Given the description of an element on the screen output the (x, y) to click on. 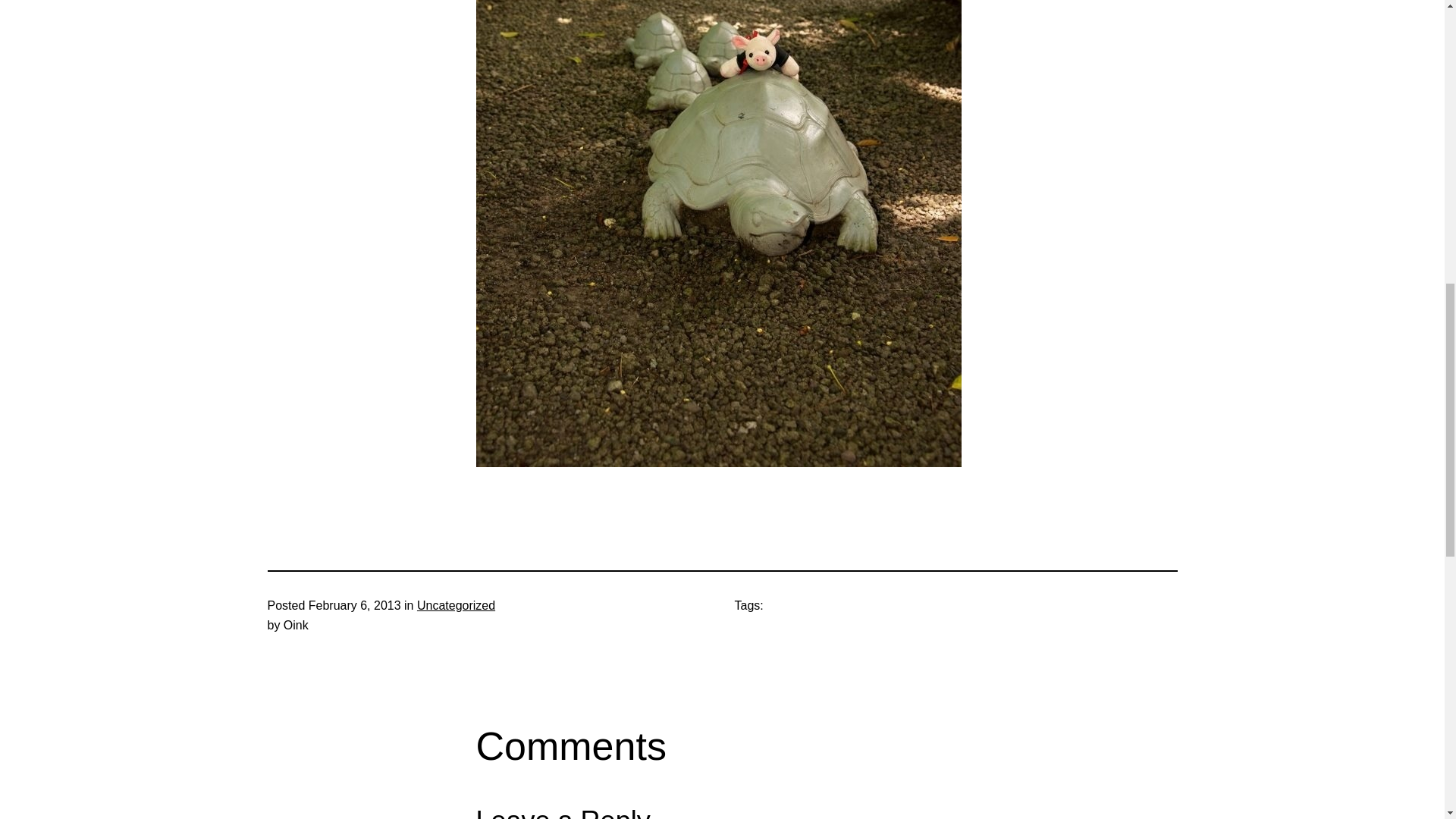
Uncategorized (455, 604)
